Given the description of an element on the screen output the (x, y) to click on. 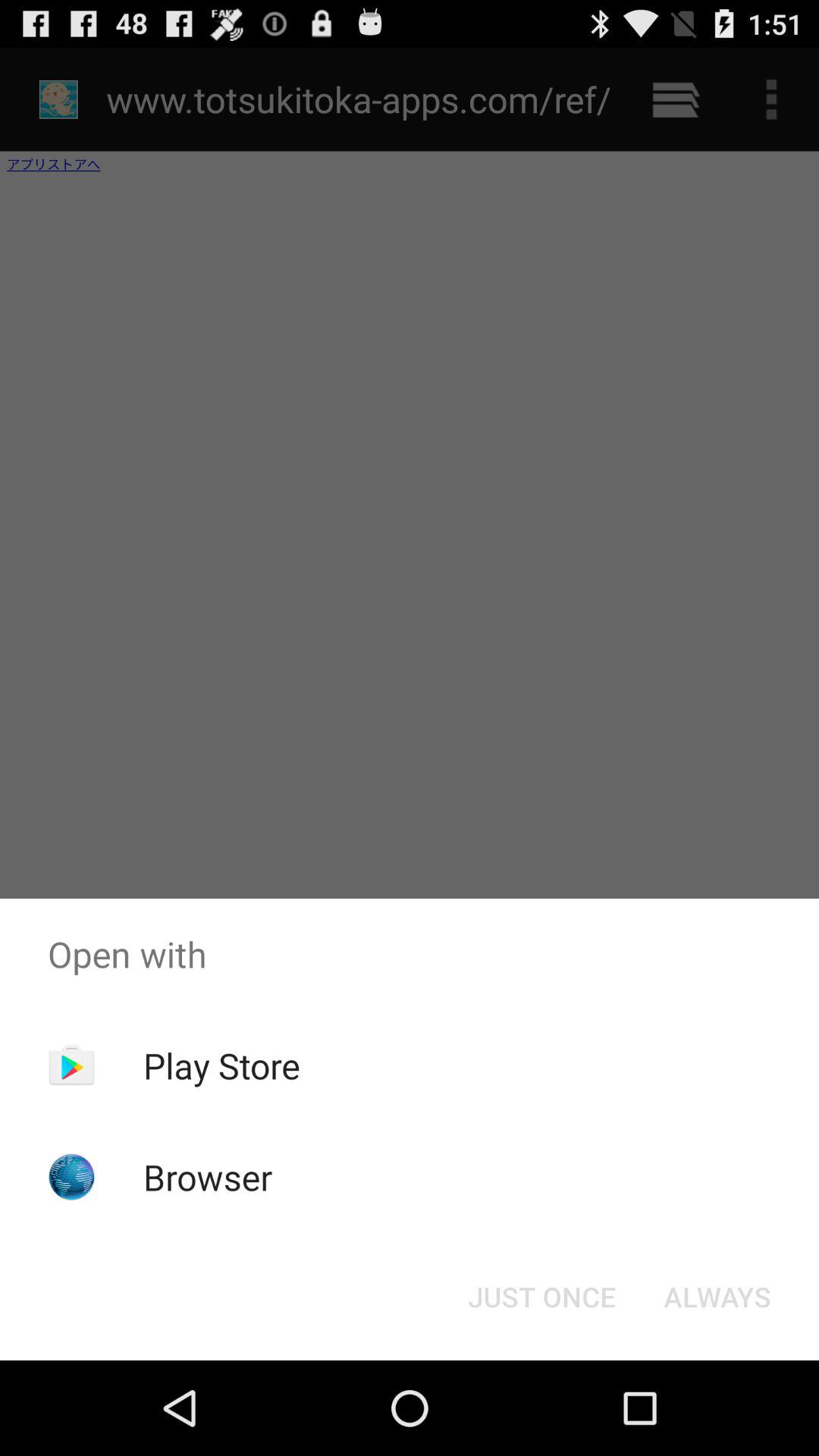
turn on just once (541, 1296)
